Given the description of an element on the screen output the (x, y) to click on. 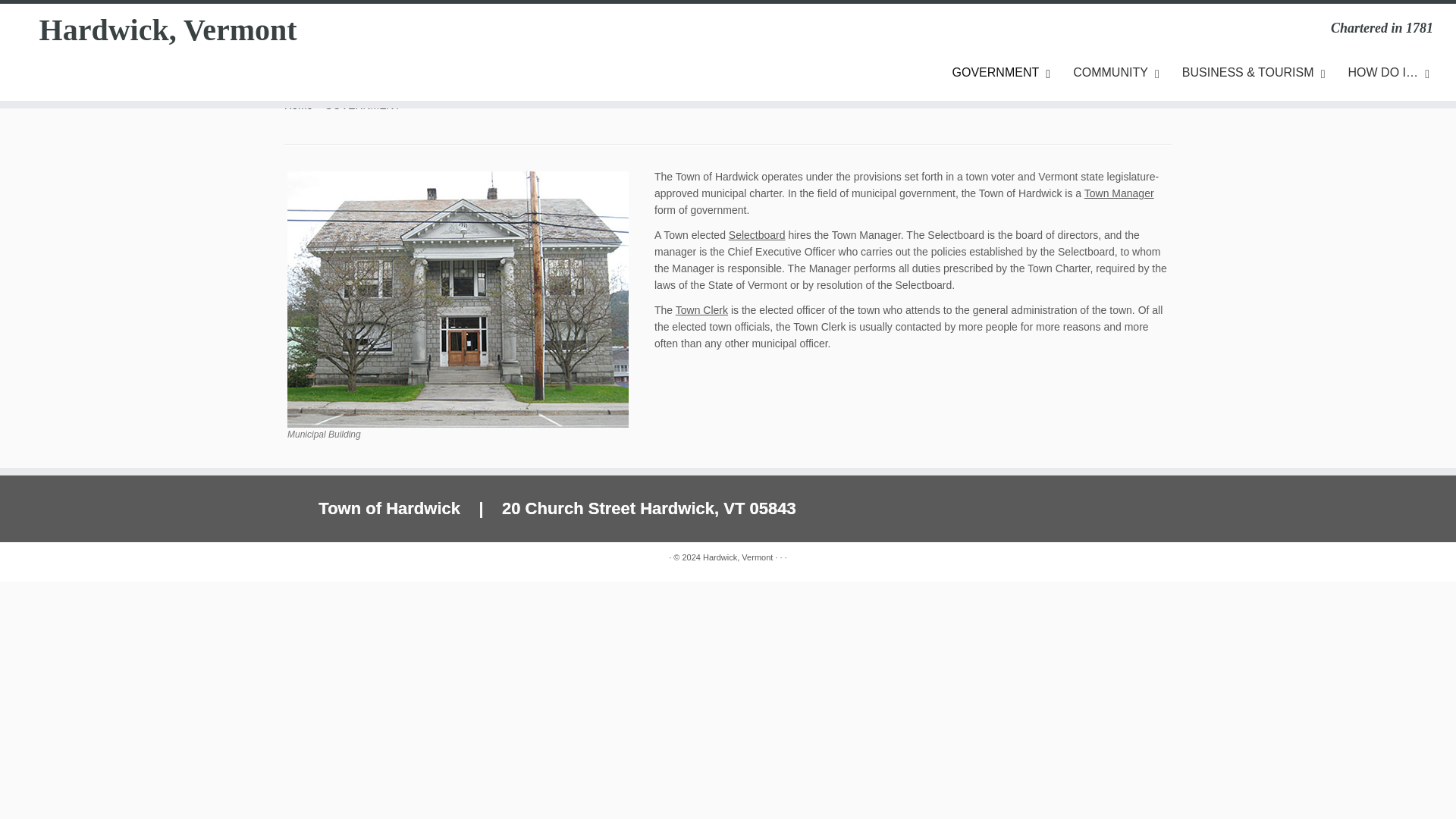
GOVERNMENT (997, 73)
Hardwick, Vermont (168, 30)
Hardwick, Vermont (298, 105)
